Given the description of an element on the screen output the (x, y) to click on. 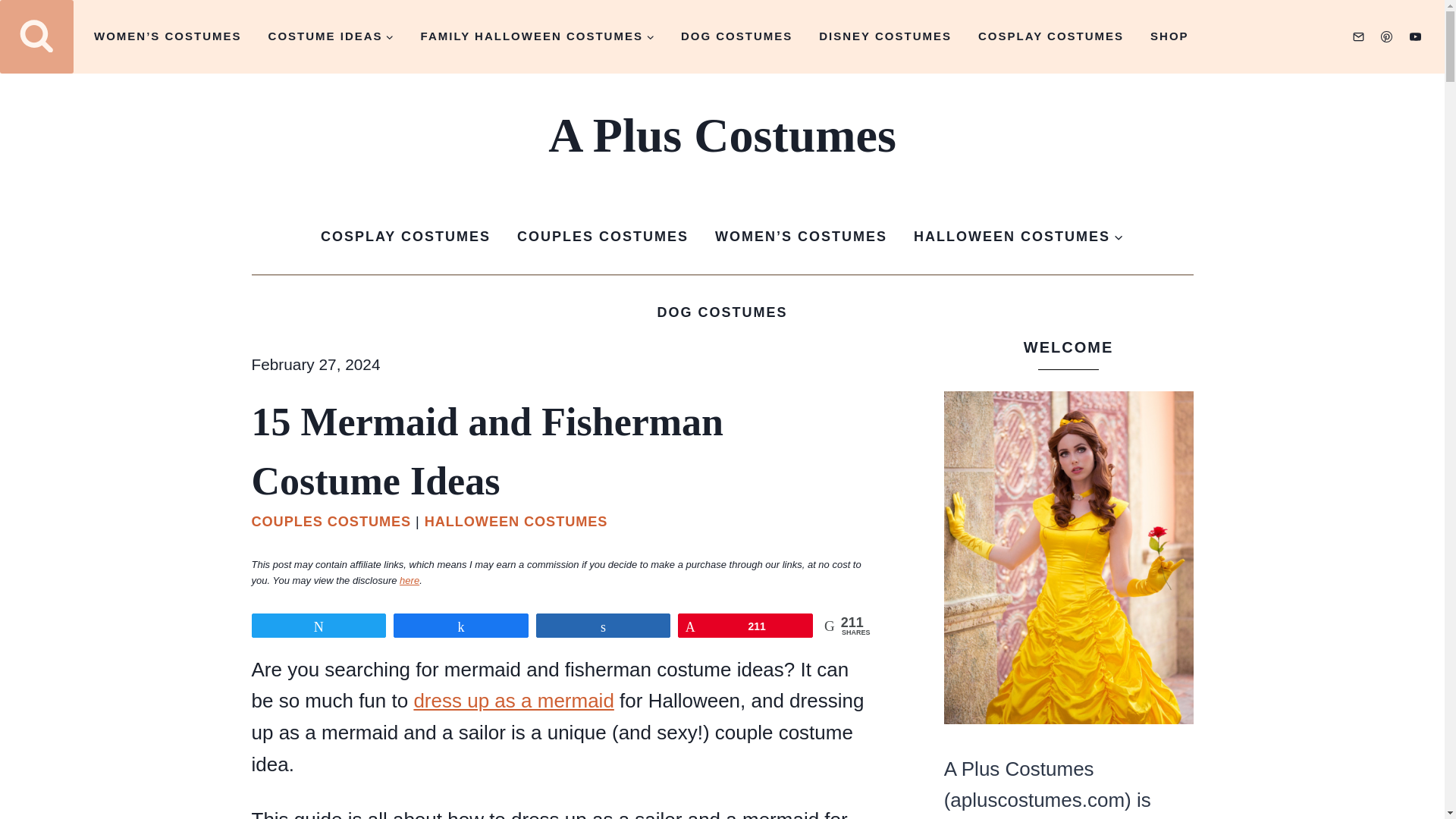
COSTUME IDEAS (330, 36)
COSPLAY COSTUMES (1051, 36)
DISNEY COSTUMES (885, 36)
DOG COSTUMES (721, 312)
FAMILY HALLOWEEN COSTUMES (536, 36)
COSPLAY COSTUMES (405, 237)
HALLOWEEN COSTUMES (516, 521)
COUPLES COSTUMES (602, 237)
COUPLES COSTUMES (331, 521)
HALLOWEEN COSTUMES (1019, 237)
DOG COSTUMES (735, 36)
A Plus Costumes (722, 136)
